Given the description of an element on the screen output the (x, y) to click on. 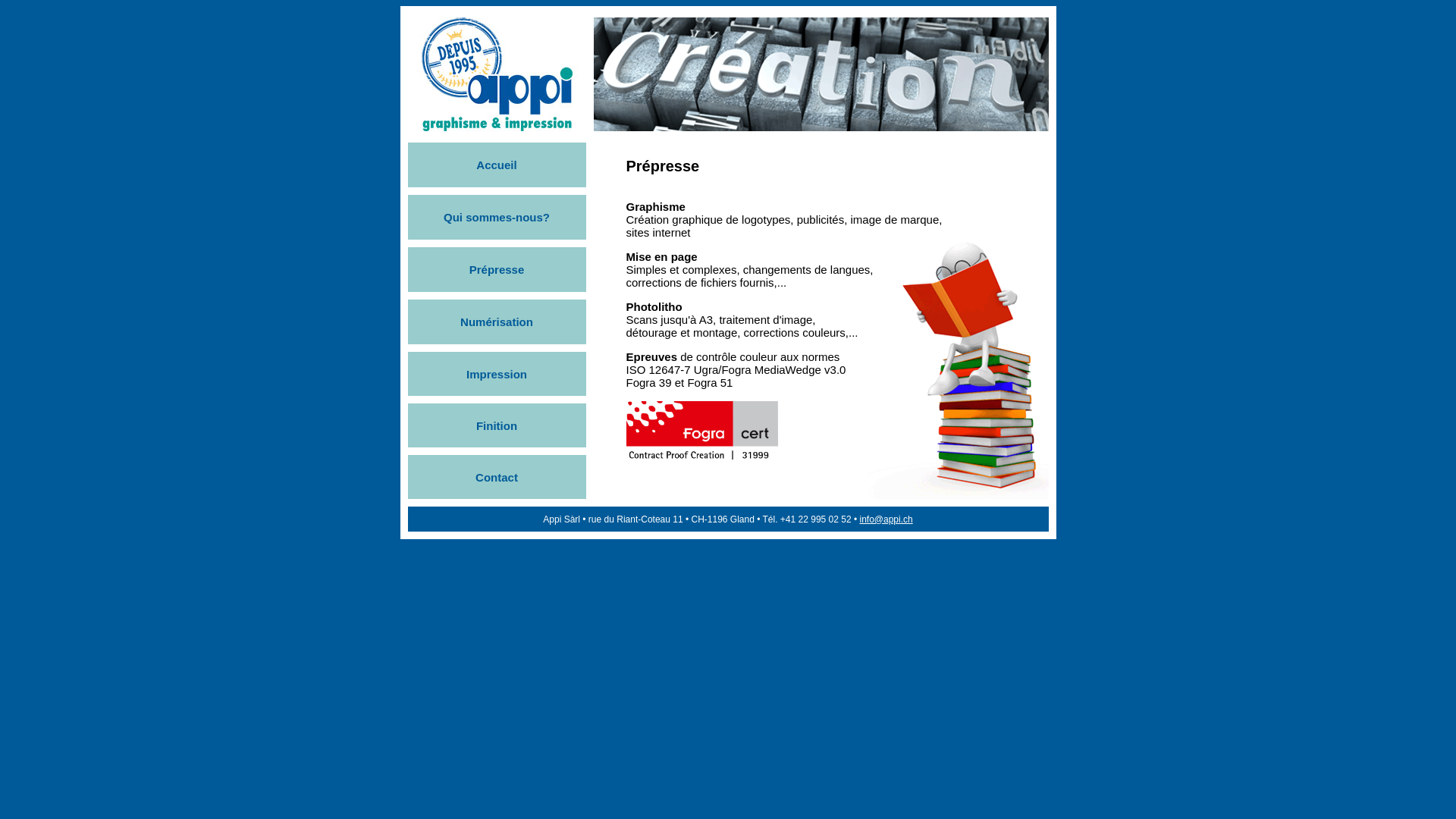
Accueil Element type: text (496, 164)
Finition Element type: text (496, 424)
Impression Element type: text (496, 373)
Contact Element type: text (496, 476)
info@appi.ch Element type: text (885, 519)
Qui sommes-nous? Element type: text (496, 216)
